Given the description of an element on the screen output the (x, y) to click on. 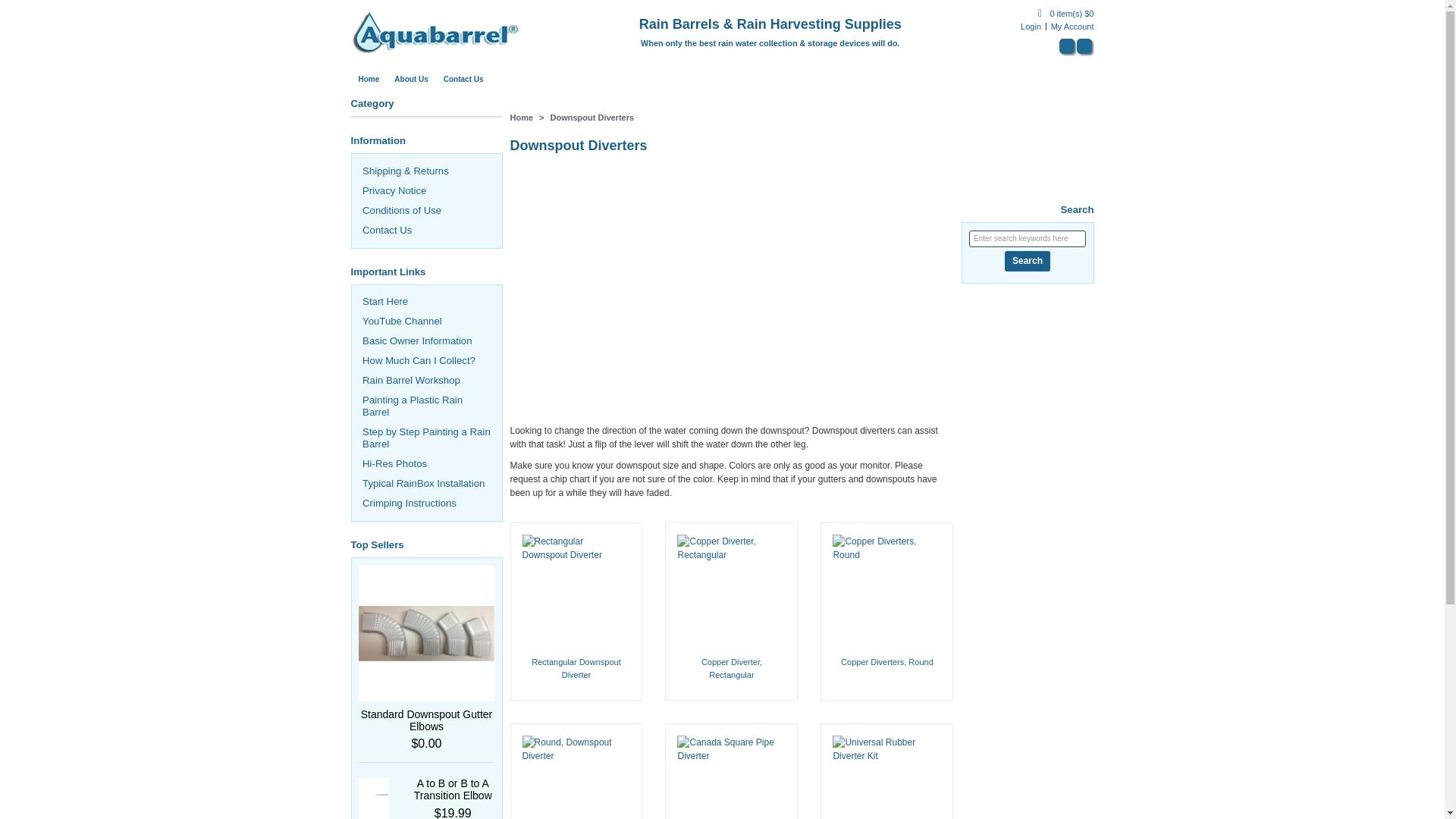
Round, Downspout Diverter (575, 771)
Rain Barrel Workshop (411, 379)
Home (368, 79)
Downspout Diverters (592, 117)
home (434, 31)
Typical RainBox Installation (423, 482)
Home (520, 117)
Standard Downspout Gutter Elbows (427, 720)
A to B or B to A Transition Elbow (452, 789)
Crimping Instructions (409, 502)
